Given the description of an element on the screen output the (x, y) to click on. 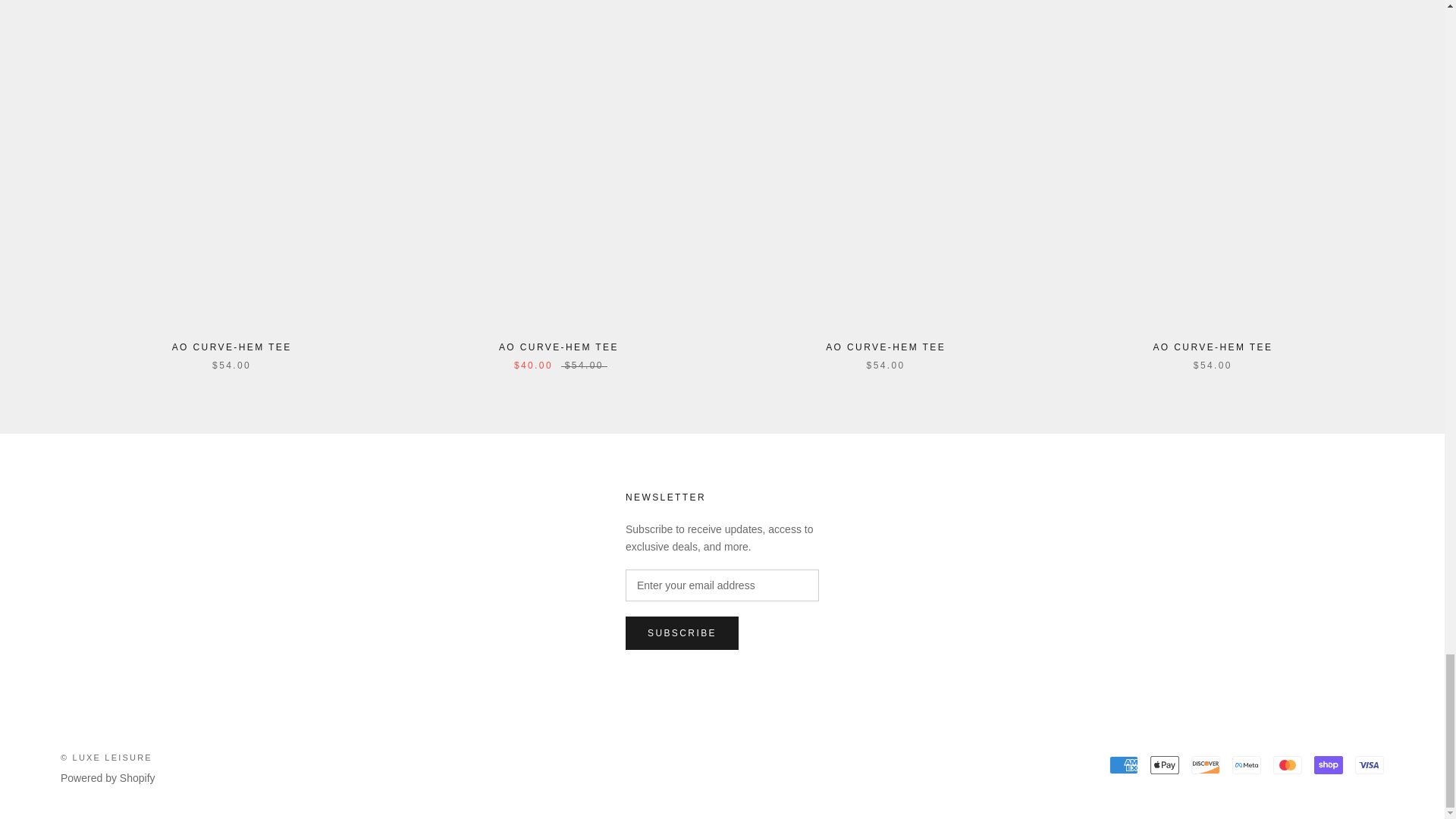
Shop Pay (1328, 764)
Meta Pay (1245, 764)
Apple Pay (1164, 764)
American Express (1123, 764)
Mastercard (1286, 764)
Visa (1369, 764)
Discover (1205, 764)
